Given the description of an element on the screen output the (x, y) to click on. 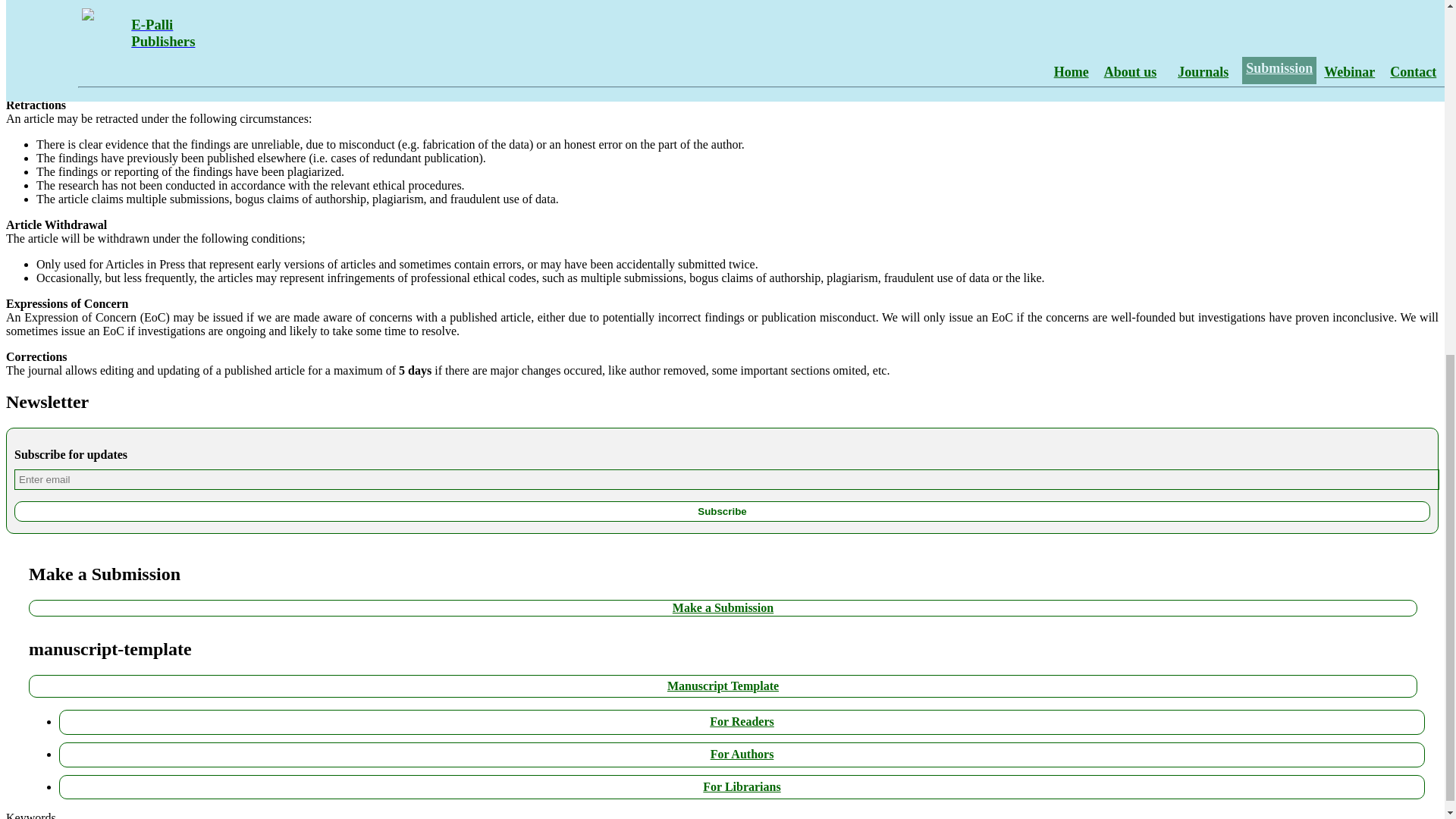
Subscribe (721, 511)
